Given the description of an element on the screen output the (x, y) to click on. 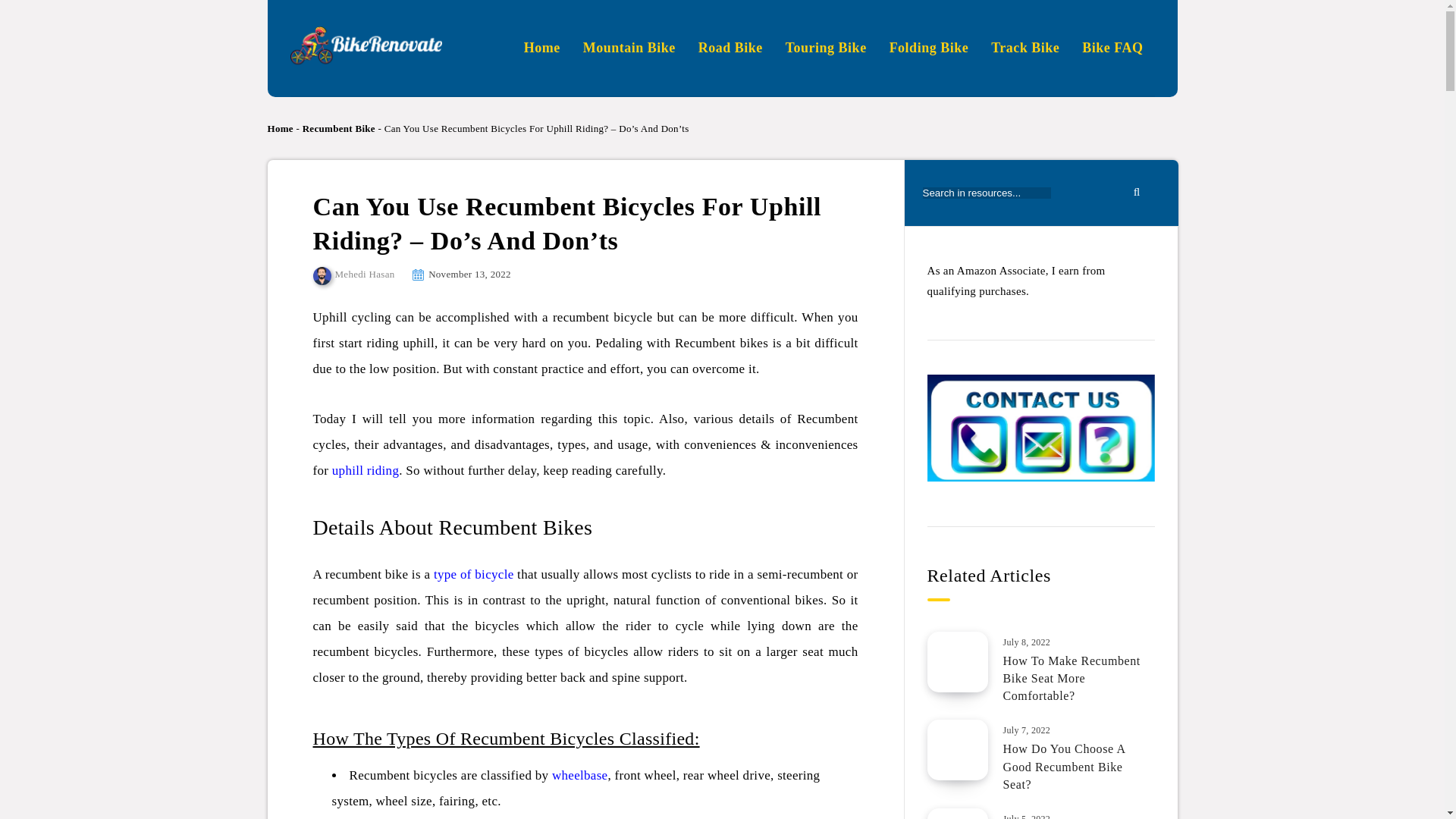
Mehedi Hasan (353, 275)
Road Bike (730, 47)
Mountain Bike (629, 47)
Track Bike (1025, 47)
Bike FAQ (1111, 47)
wheelbase (579, 775)
uphill riding (364, 470)
Home (542, 47)
type of bicycle (473, 574)
Touring Bike (826, 47)
Mehedi Hasan (353, 275)
Home (279, 128)
Recumbent Bike (338, 128)
Folding Bike (929, 47)
